Given the description of an element on the screen output the (x, y) to click on. 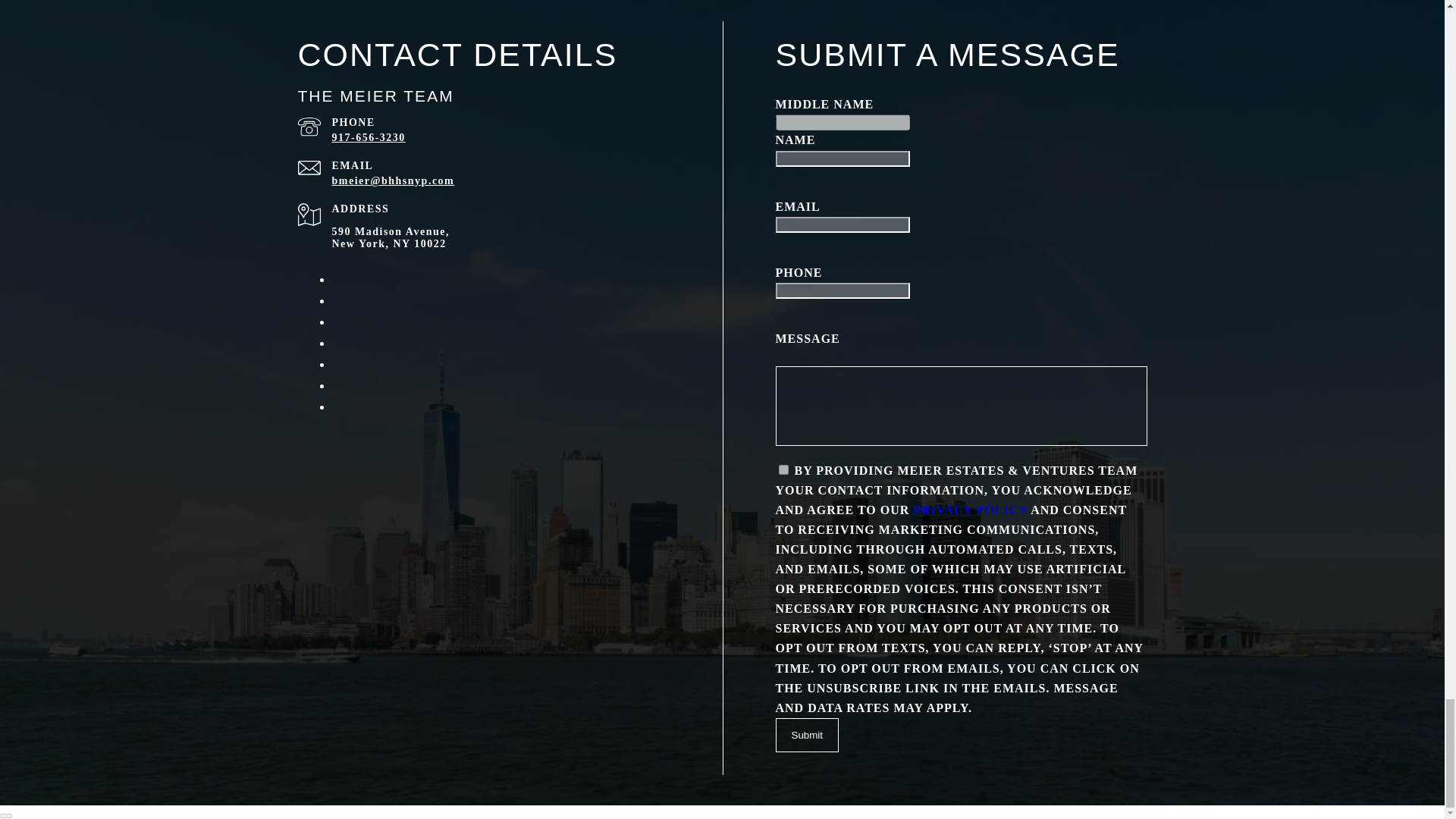
on (782, 470)
